Given the description of an element on the screen output the (x, y) to click on. 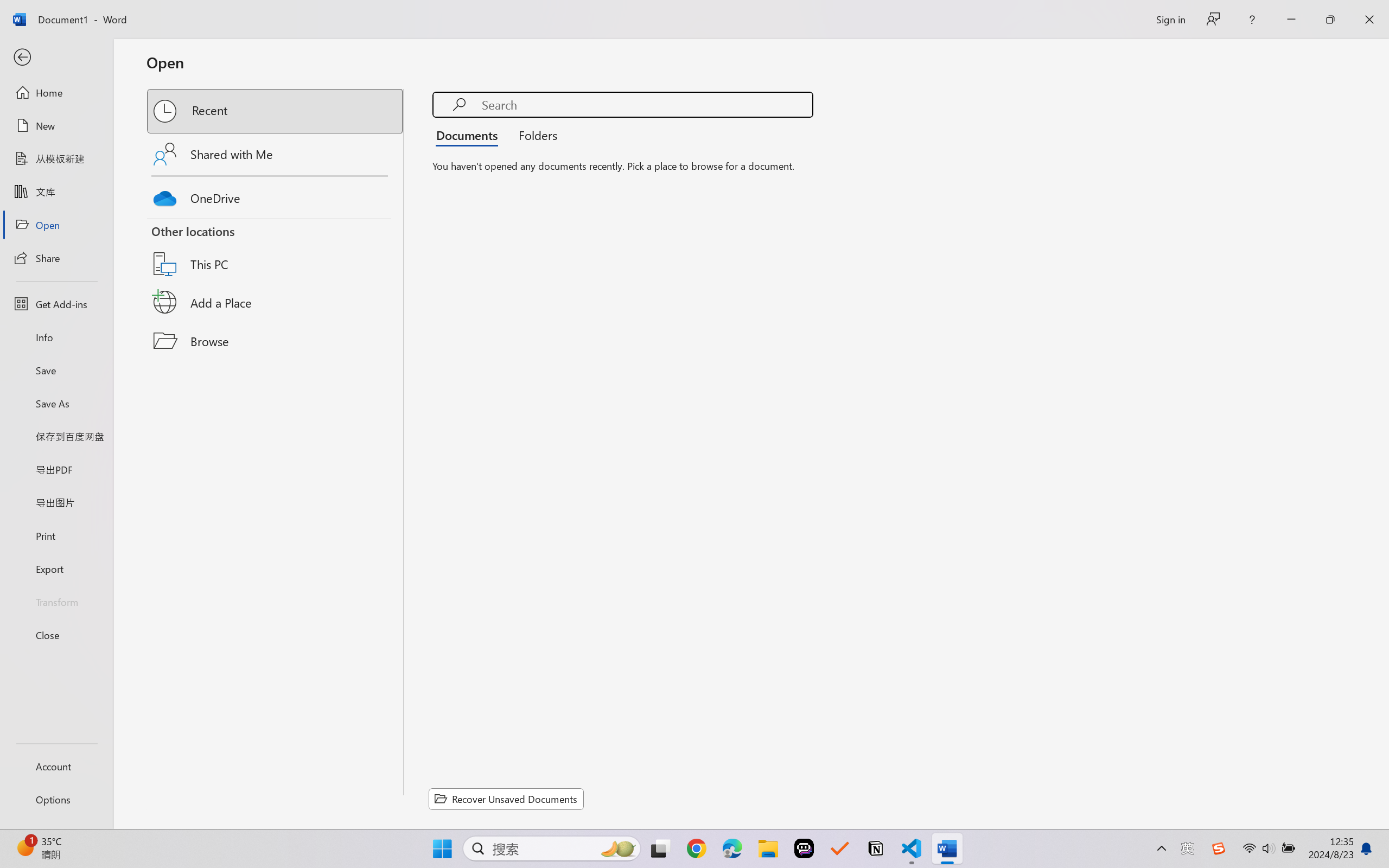
Browse (275, 340)
Transform (56, 601)
Recover Unsaved Documents (506, 798)
Documents (469, 134)
Back (56, 57)
New (56, 125)
